Given the description of an element on the screen output the (x, y) to click on. 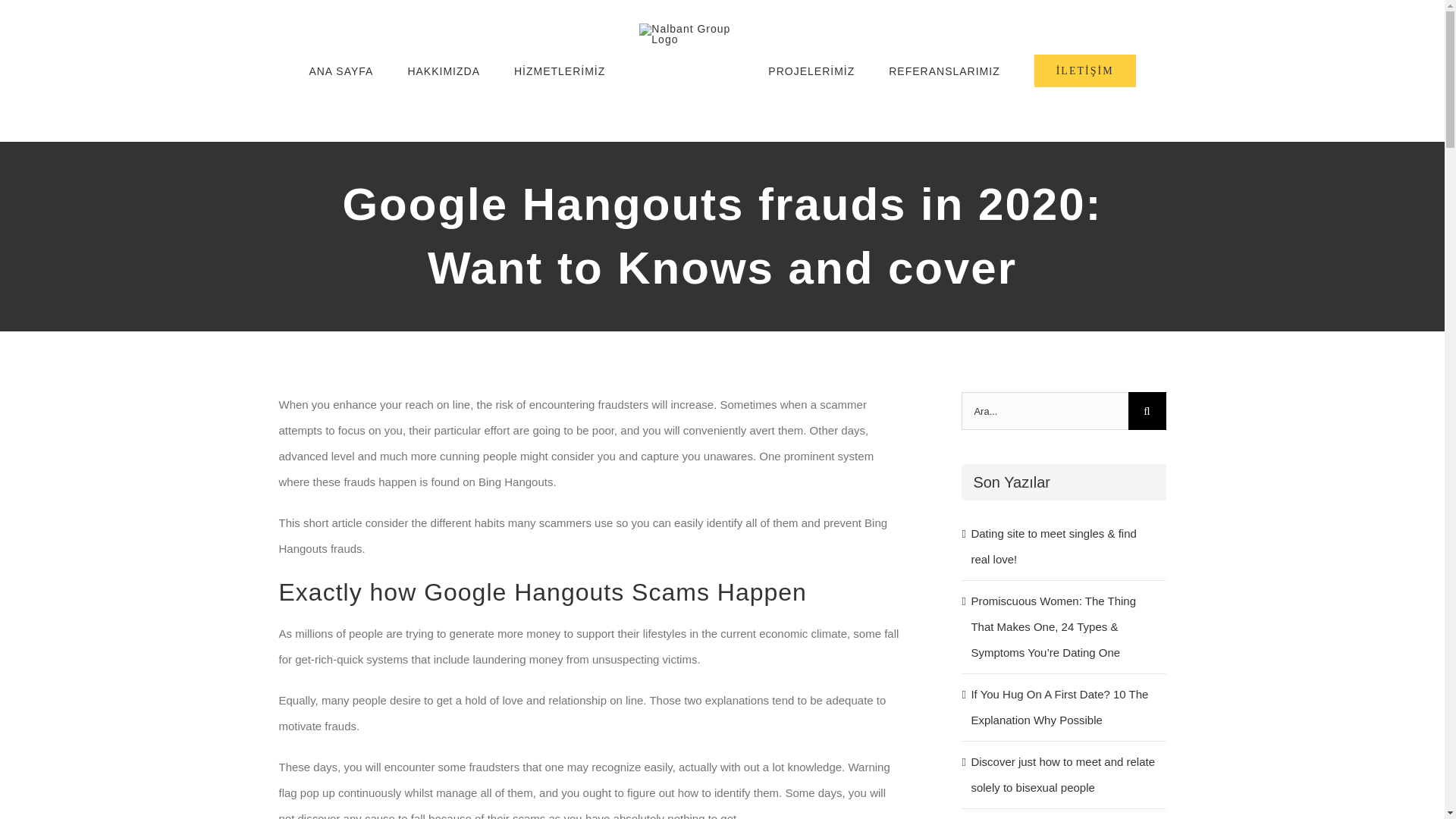
HAKKIMIZDA (443, 71)
REFERANSLARIMIZ (943, 71)
ANA SAYFA (340, 71)
If You Hug On A First Date? 10 The Explanation Why Possible (1059, 706)
